Given the description of an element on the screen output the (x, y) to click on. 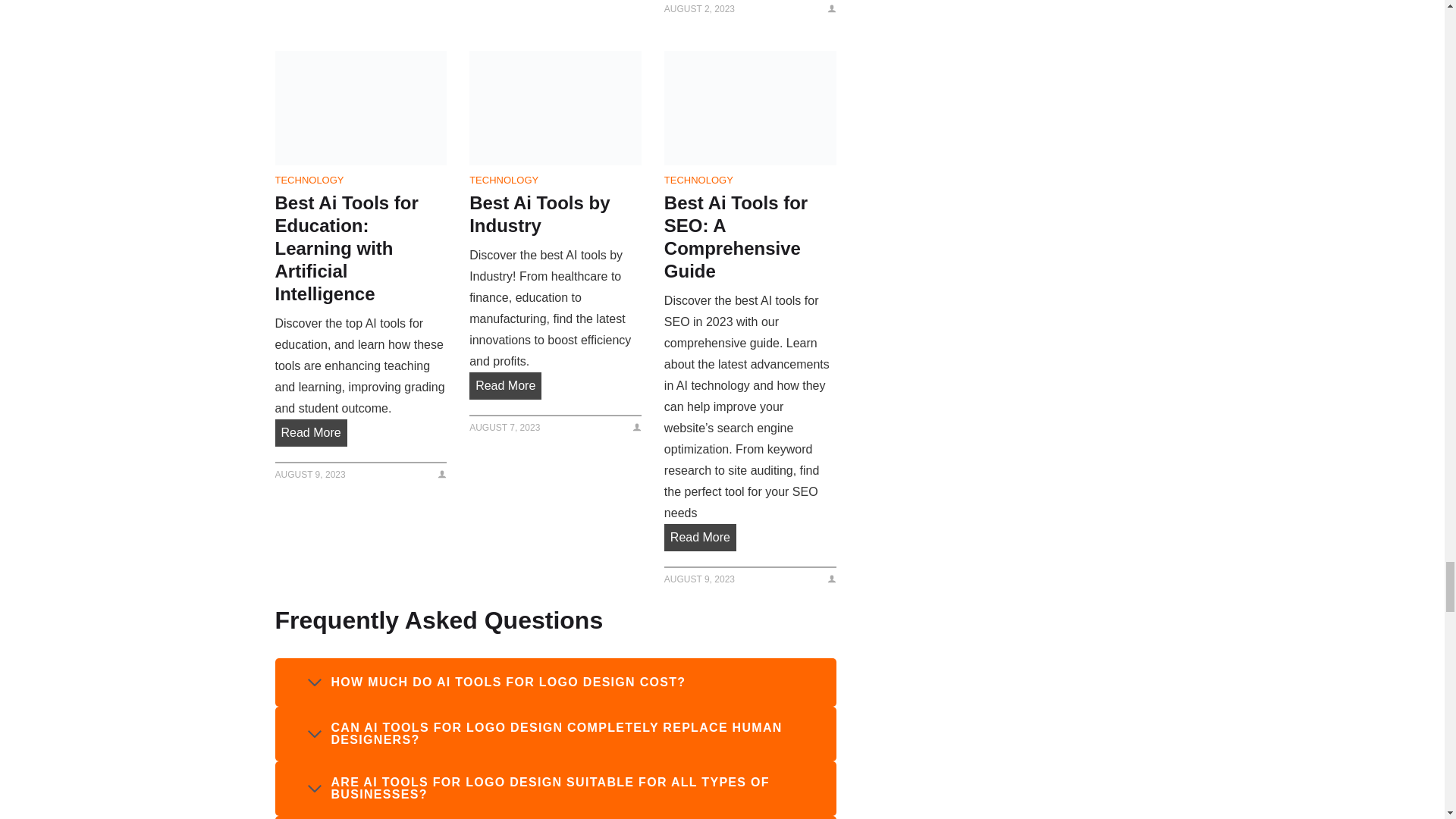
Best Ai Tools for SEO: A Comprehensive Guide (749, 107)
Best Ai Tools by Industry (555, 107)
